Given the description of an element on the screen output the (x, y) to click on. 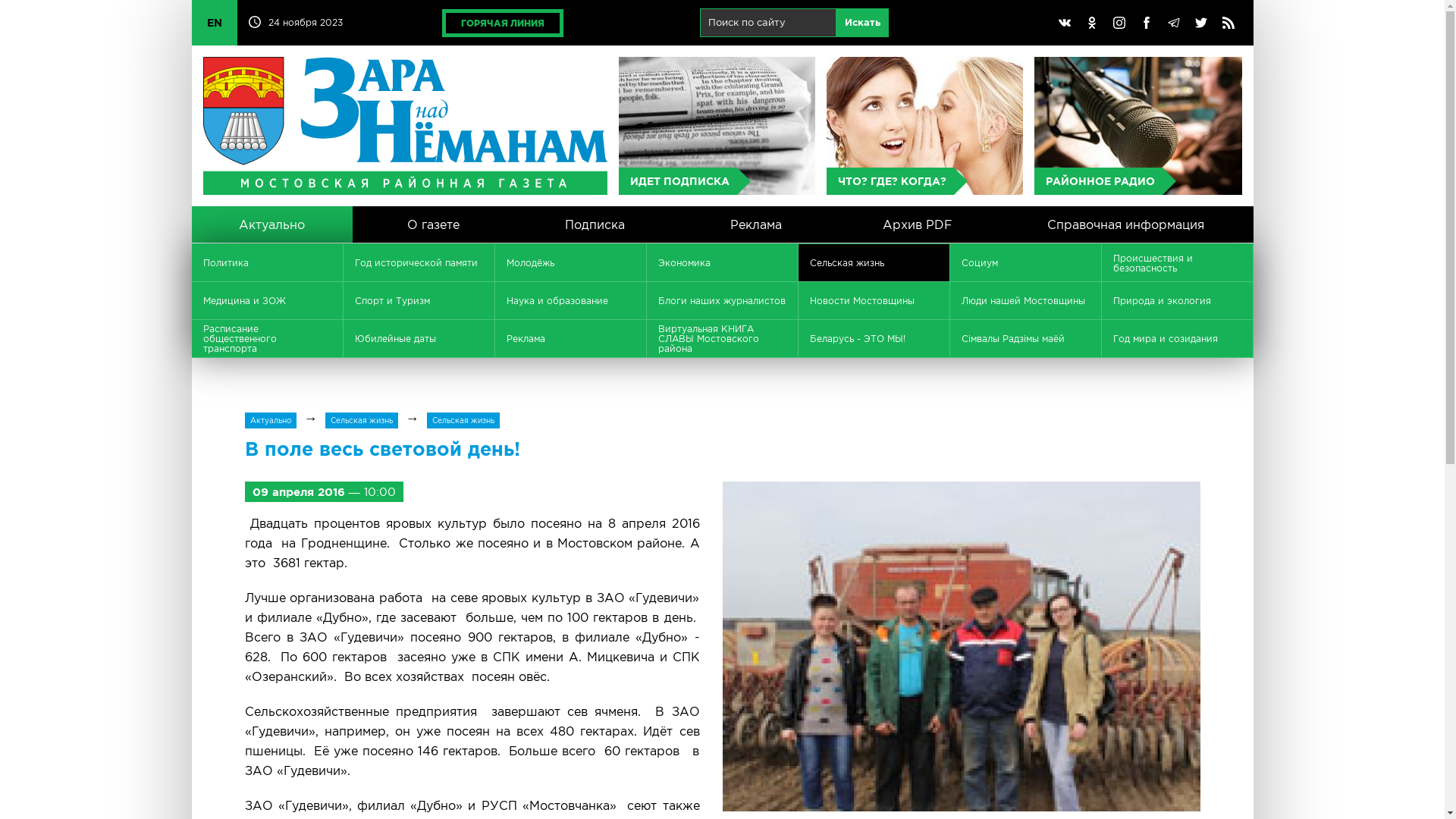
EN Element type: text (213, 22)
